Given the description of an element on the screen output the (x, y) to click on. 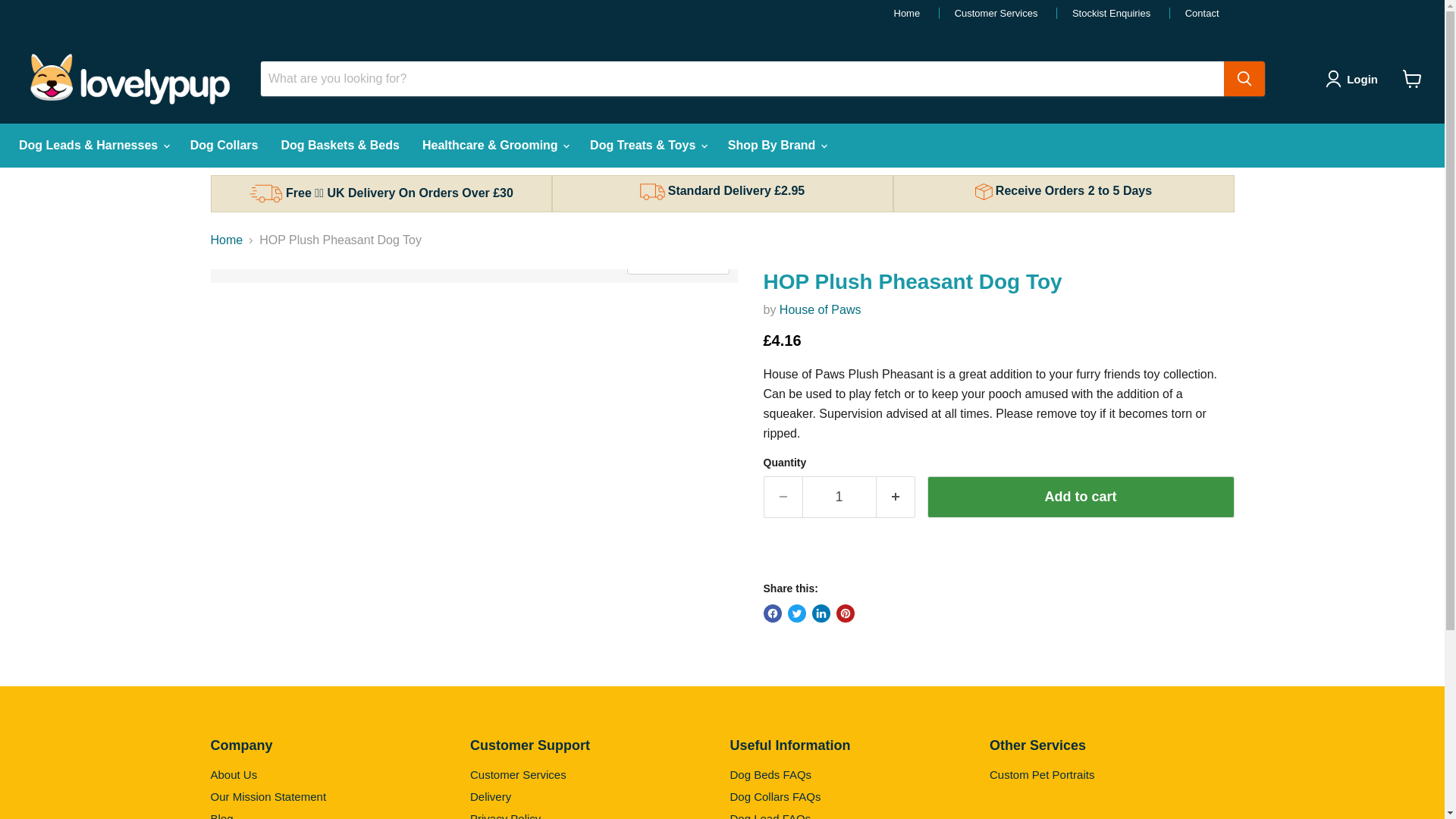
Customer Services (988, 12)
Login (1354, 78)
Dog Collars (224, 145)
View cart (1411, 78)
Contact (1194, 12)
Stockist Enquiries (1103, 12)
House of Paws (819, 309)
1 (839, 496)
Home (898, 12)
